Given the description of an element on the screen output the (x, y) to click on. 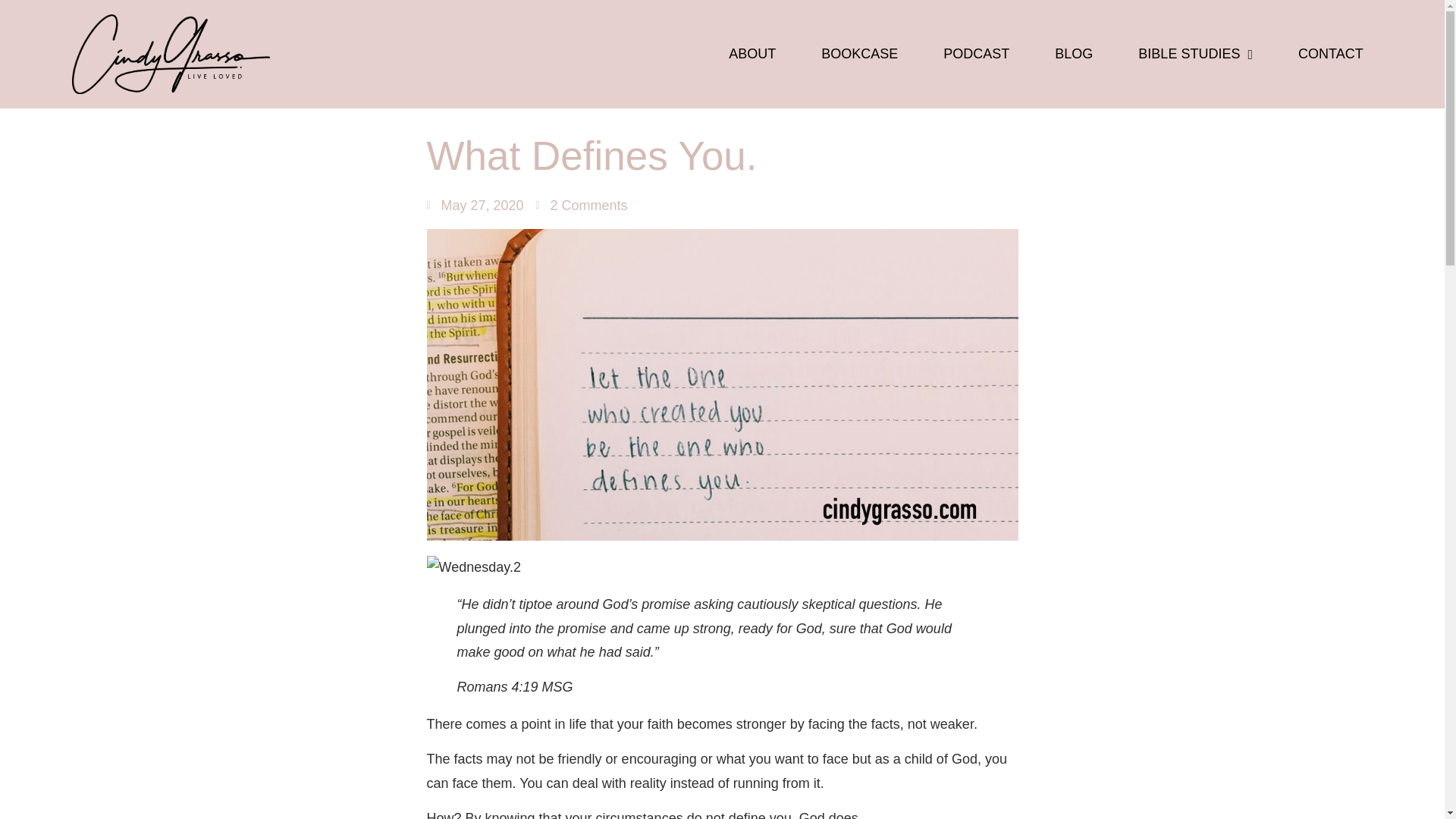
CONTACT (1330, 54)
ABOUT (751, 54)
2 Comments (581, 205)
May 27, 2020 (474, 205)
BLOG (1073, 54)
BIBLE STUDIES (1195, 54)
PODCAST (976, 54)
BOOKCASE (859, 54)
